Given the description of an element on the screen output the (x, y) to click on. 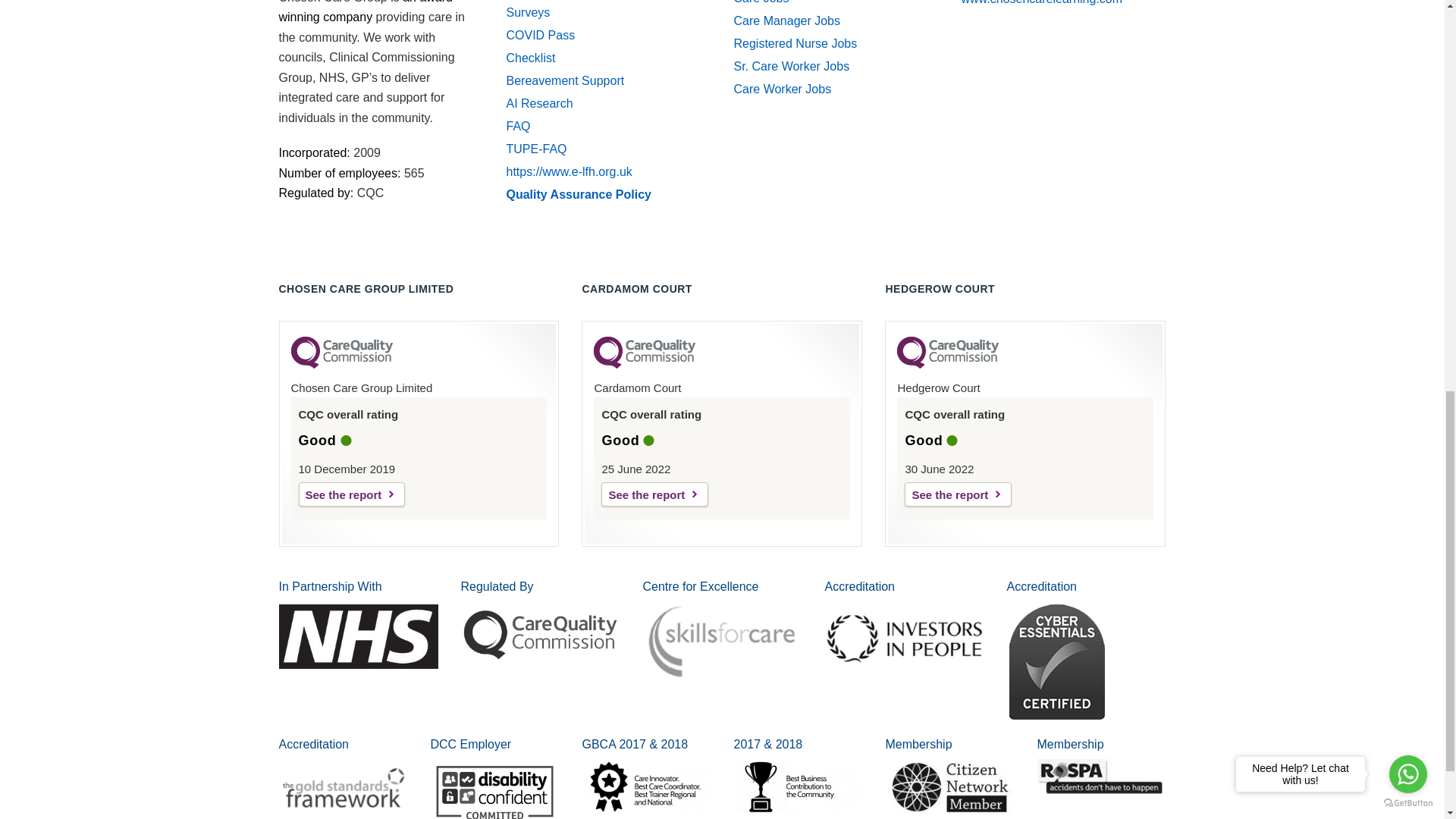
CQC Logo (342, 364)
CQC Logo (947, 364)
CQC Logo (644, 364)
